Given the description of an element on the screen output the (x, y) to click on. 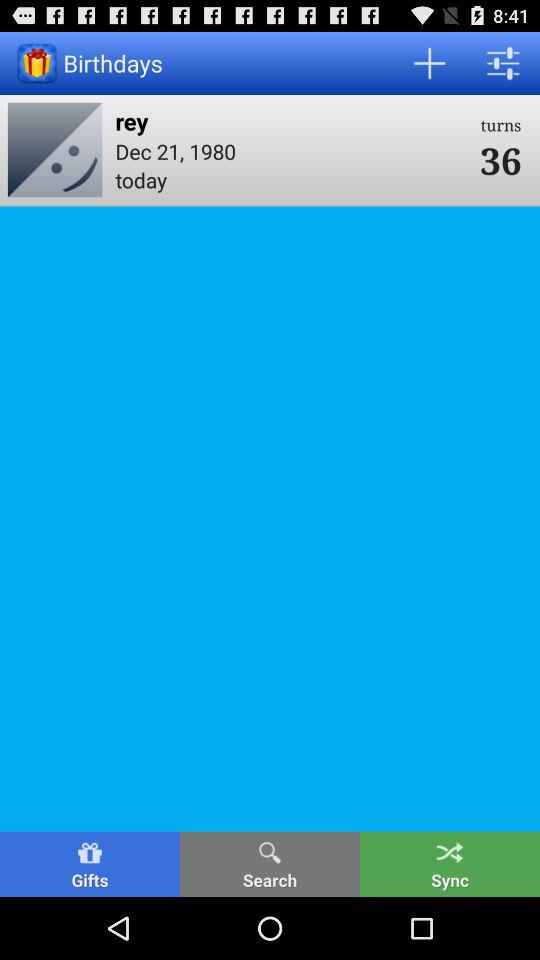
jump until rey item (291, 120)
